Given the description of an element on the screen output the (x, y) to click on. 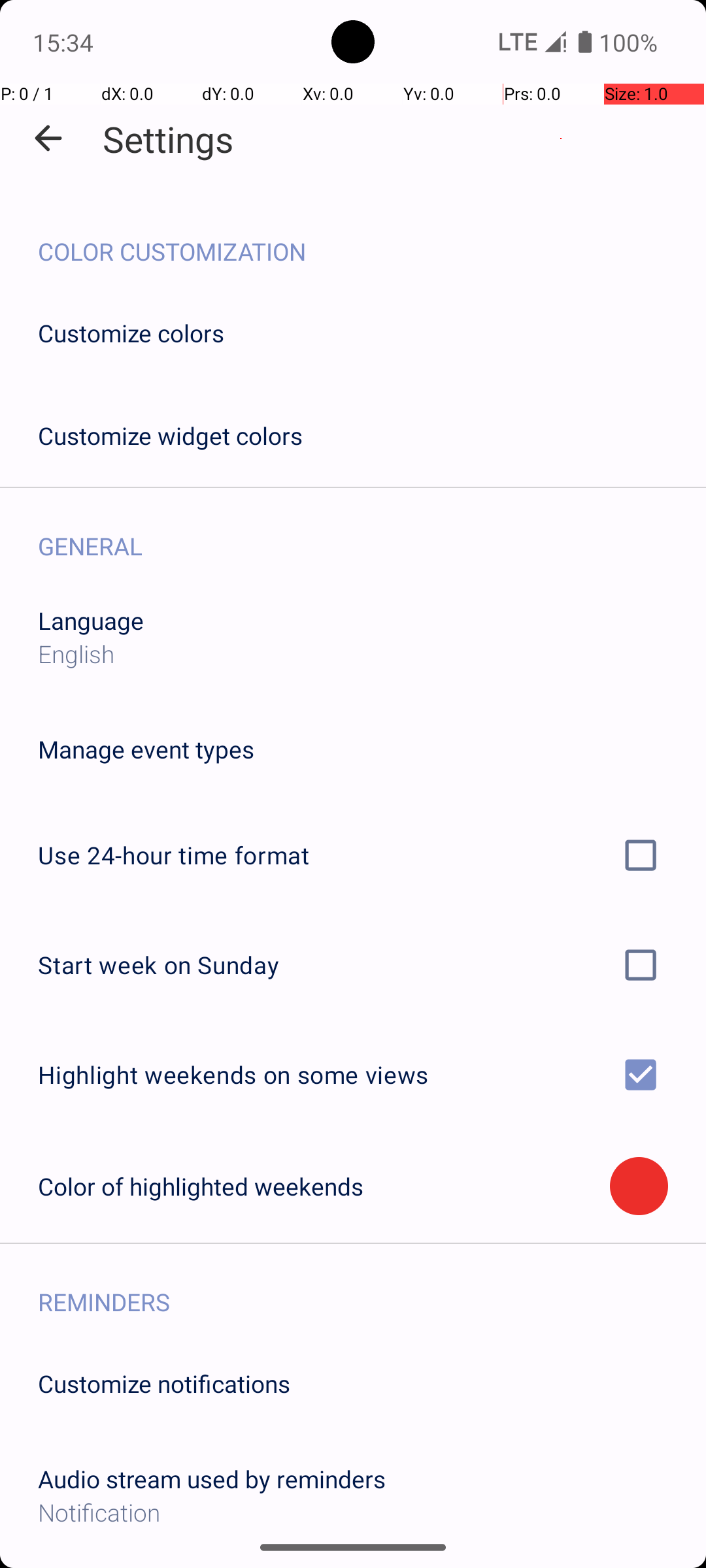
Color of highlighted weekends Element type: android.widget.TextView (323, 1186)
